Given the description of an element on the screen output the (x, y) to click on. 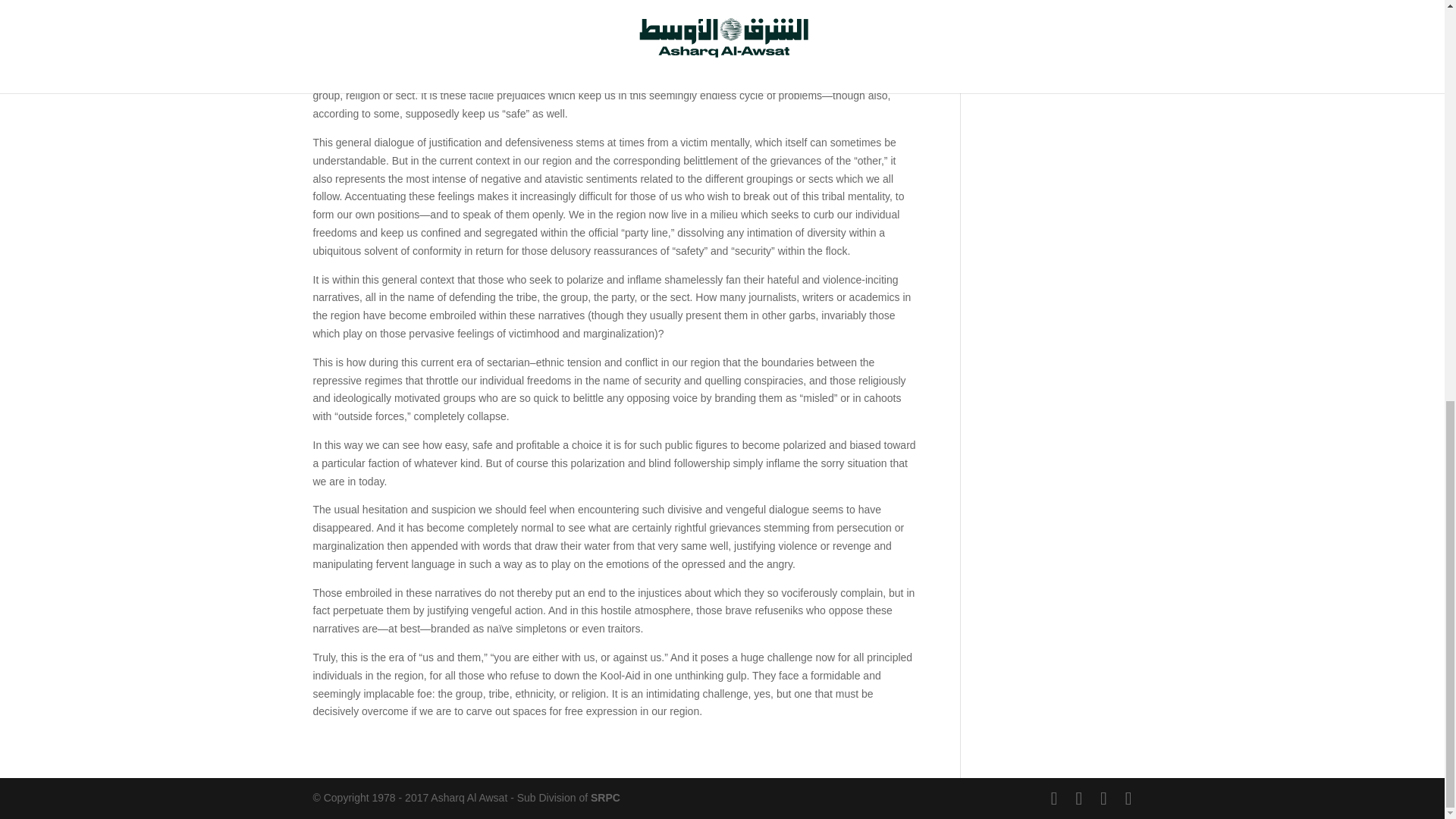
SRPC (605, 797)
